Given the description of an element on the screen output the (x, y) to click on. 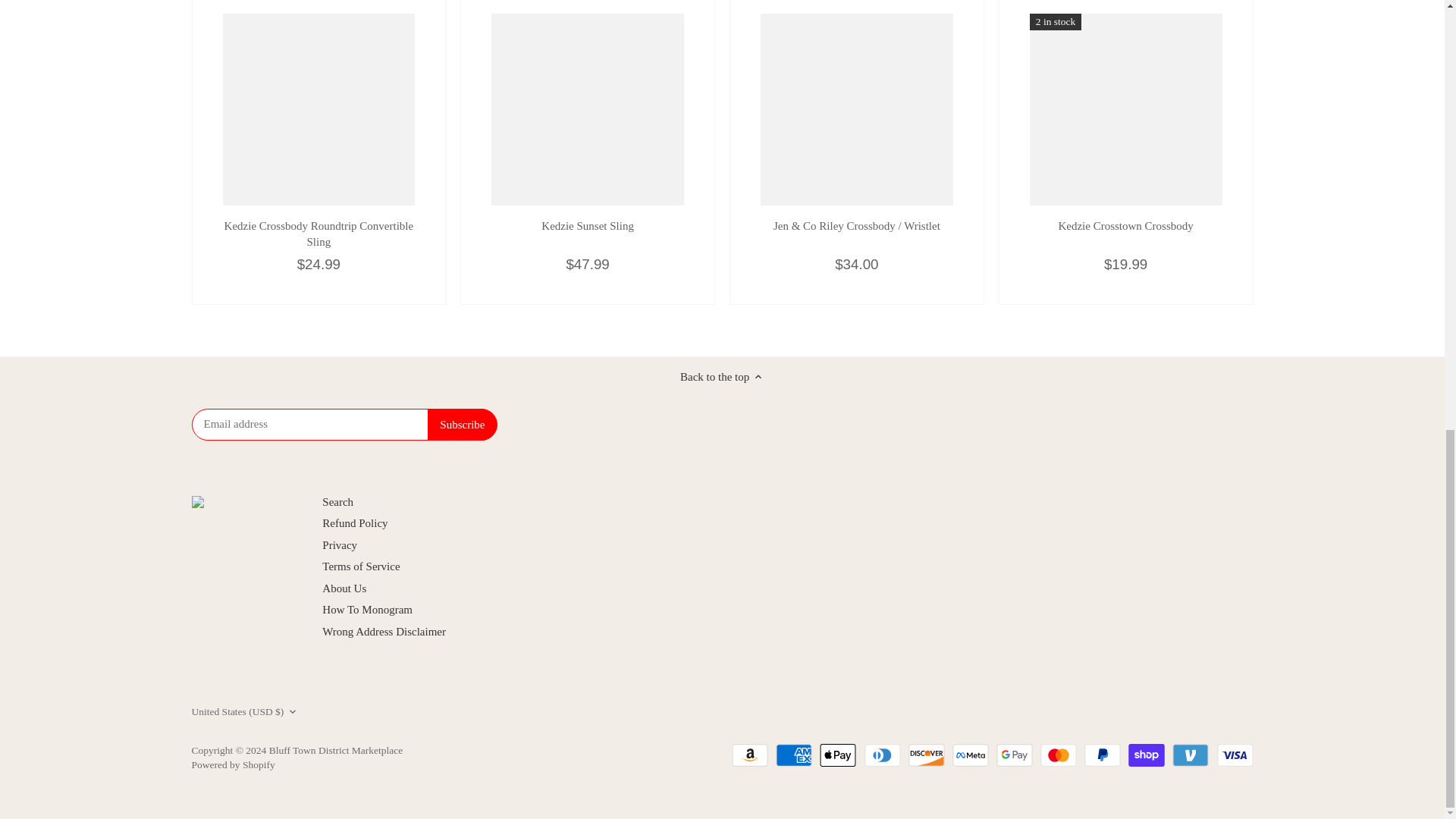
Discover (926, 754)
Diners Club (882, 754)
Amazon (750, 754)
Apple Pay (837, 754)
Subscribe (462, 424)
Google Pay (1013, 754)
American Express (794, 754)
Meta Pay (970, 754)
